Given the description of an element on the screen output the (x, y) to click on. 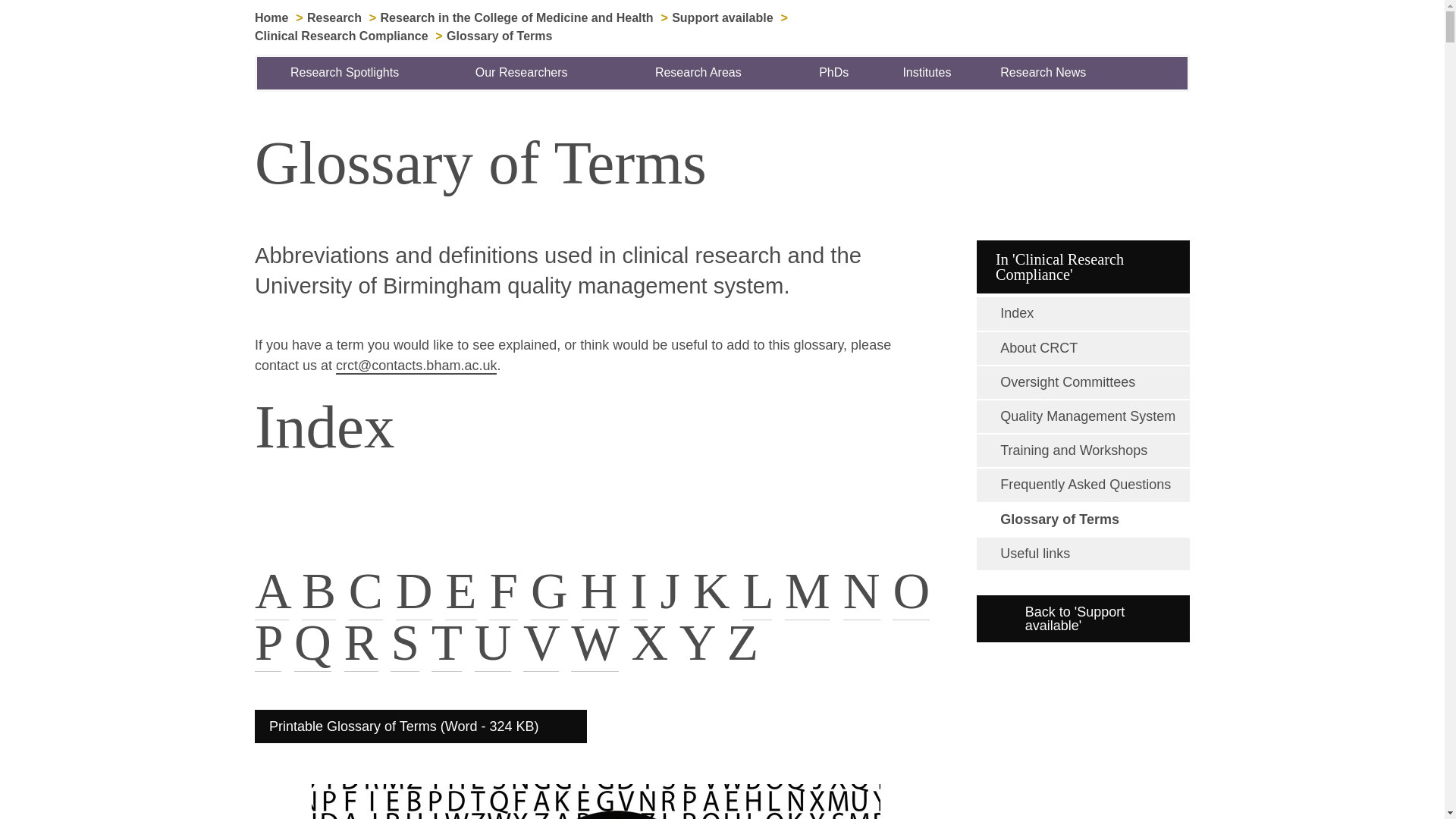
Home (271, 18)
Research Areas (698, 72)
Support available (722, 18)
Research (334, 18)
Research in the College of Medicine and Health (516, 18)
Glossary of Terms (498, 36)
Our Researchers (521, 72)
Clinical Research Compliance (341, 36)
Research Spotlights (345, 72)
